Given the description of an element on the screen output the (x, y) to click on. 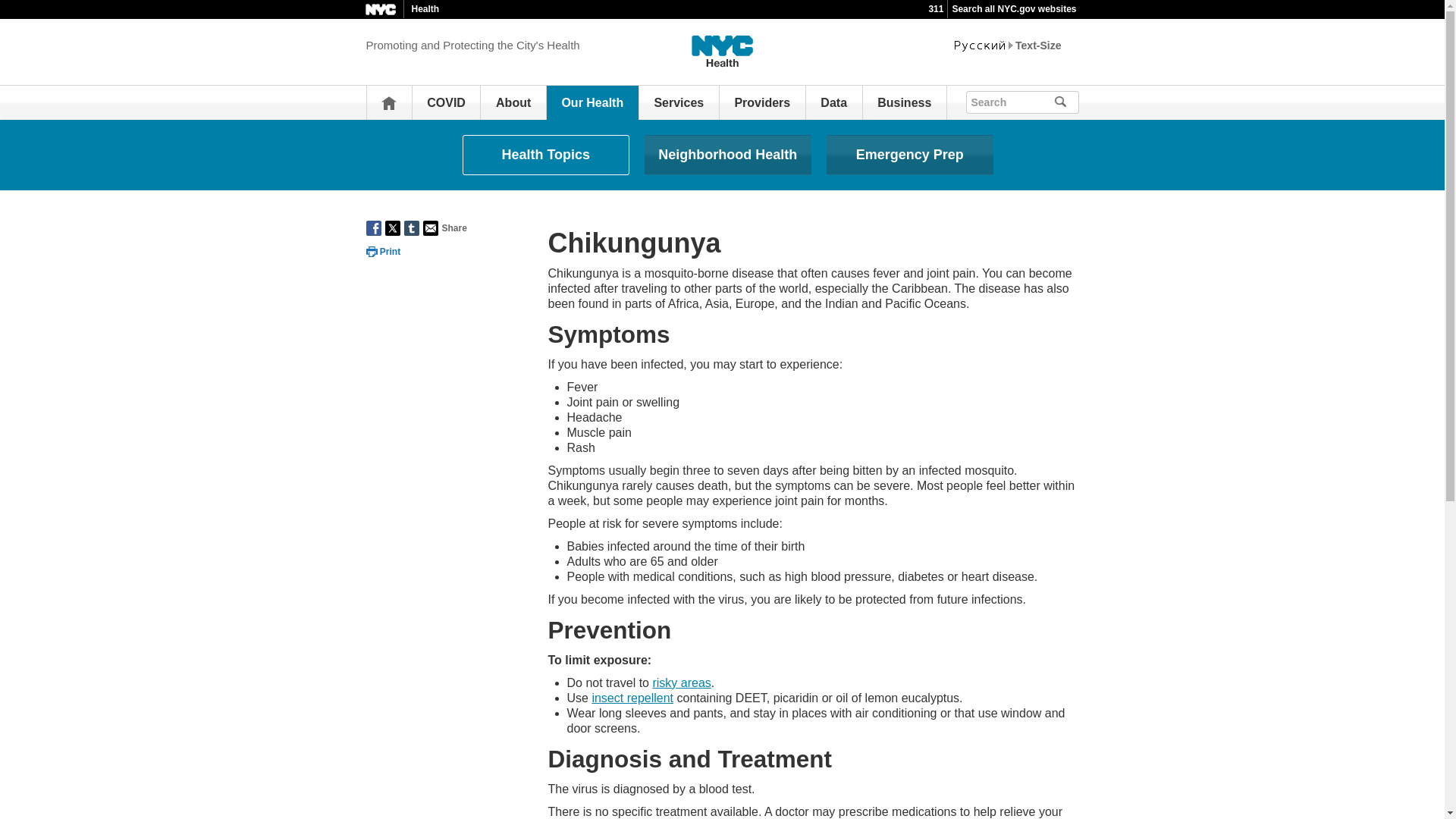
Services (678, 102)
submit (1066, 101)
Providers (761, 102)
Our Health (591, 102)
Emergency Prep (909, 155)
Business (904, 102)
submit (1066, 101)
COVID (445, 102)
submit (1081, 100)
Text-Size (1037, 45)
risky areas (681, 682)
311 (935, 9)
submit (1081, 100)
insect repellent (631, 697)
Neighborhood Health (727, 155)
